Given the description of an element on the screen output the (x, y) to click on. 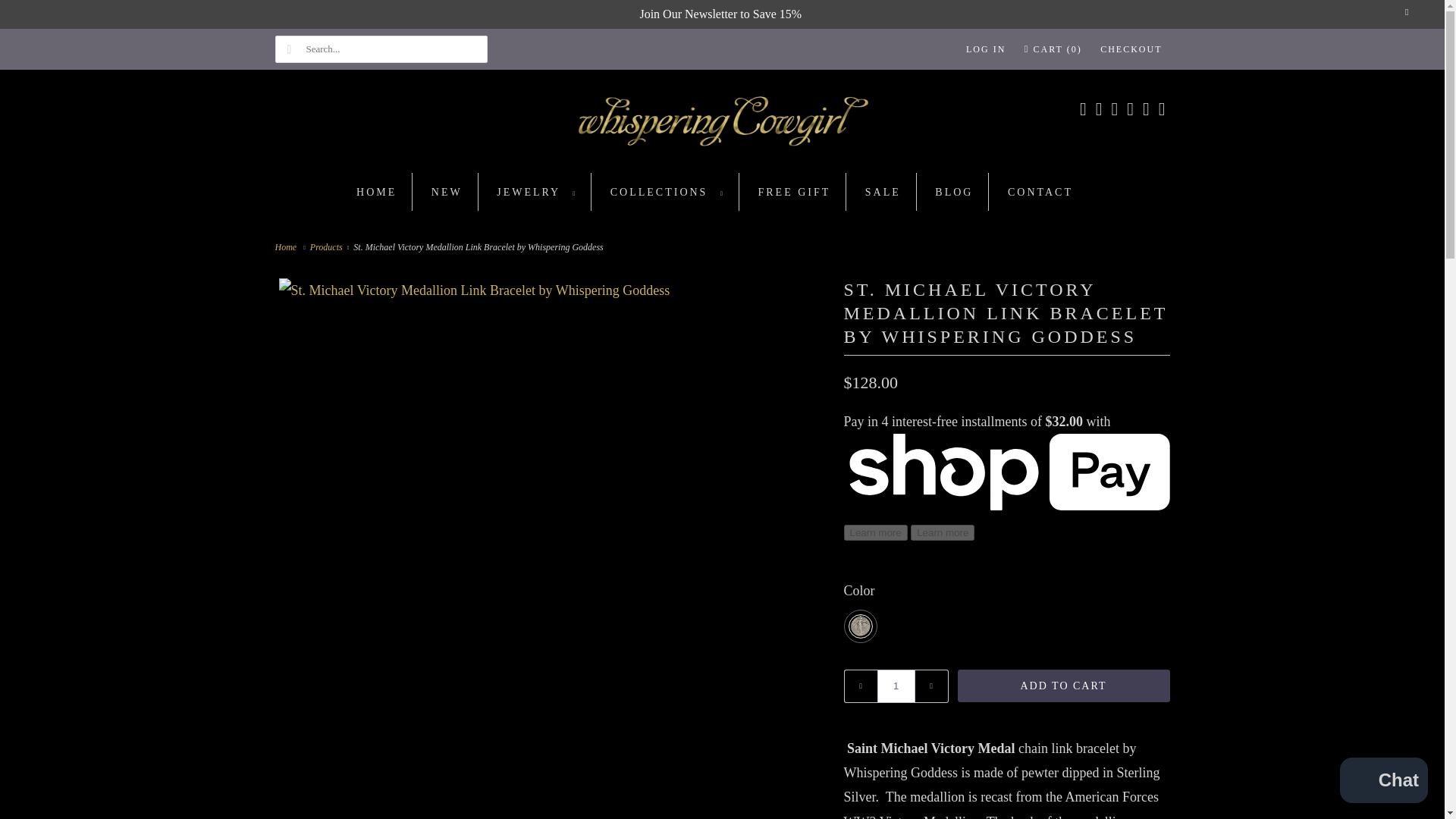
HOME (376, 192)
CHECKOUT (1130, 48)
Whispering Cowgirl  (722, 125)
LOG IN (986, 48)
Products (327, 246)
Whispering Cowgirl  (288, 246)
1 (895, 685)
